Given the description of an element on the screen output the (x, y) to click on. 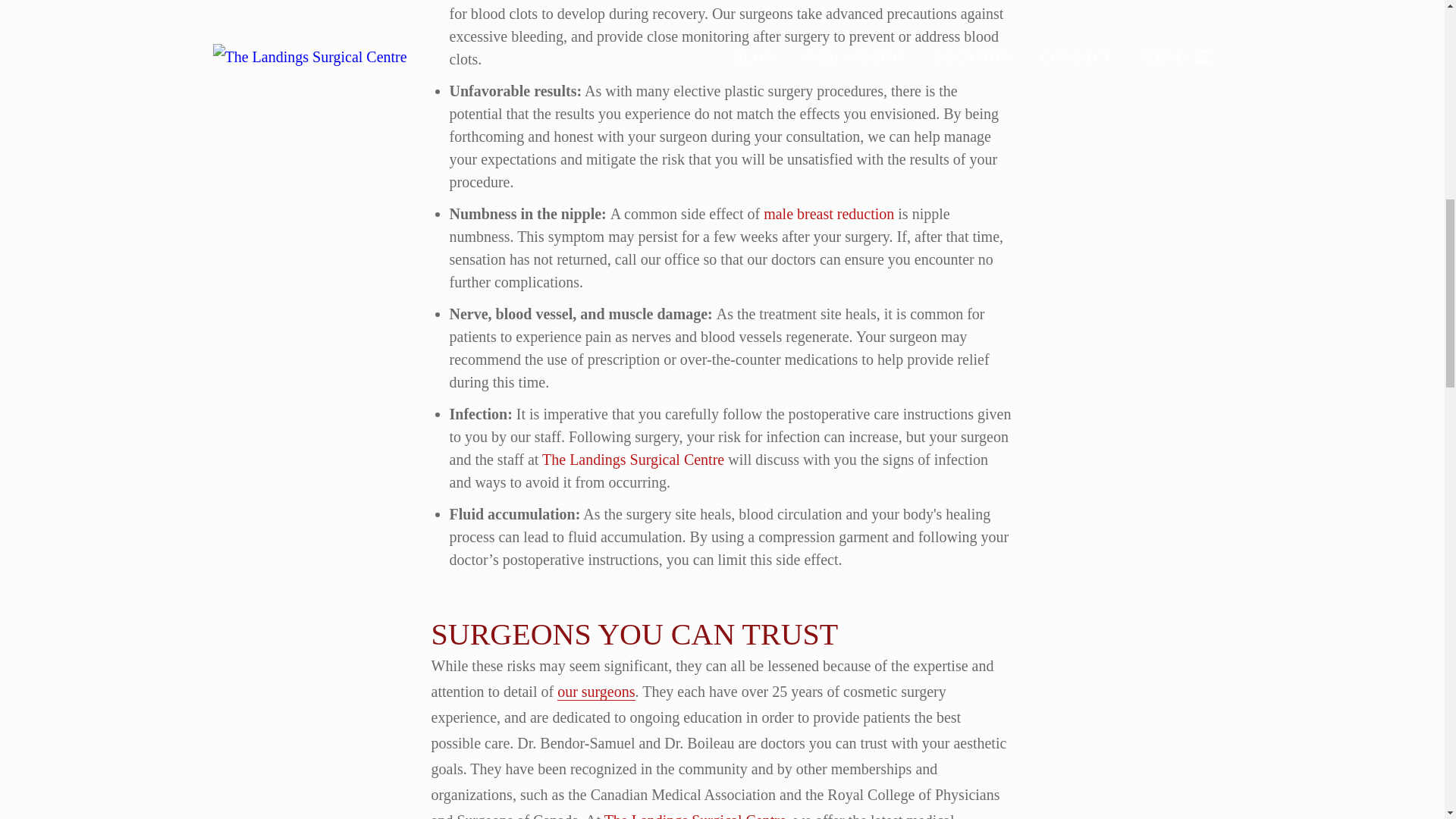
male breast reduction (827, 213)
our surgeons (595, 692)
The Landings Surgical Centre (695, 815)
The Landings Surgical Centre (632, 459)
